Given the description of an element on the screen output the (x, y) to click on. 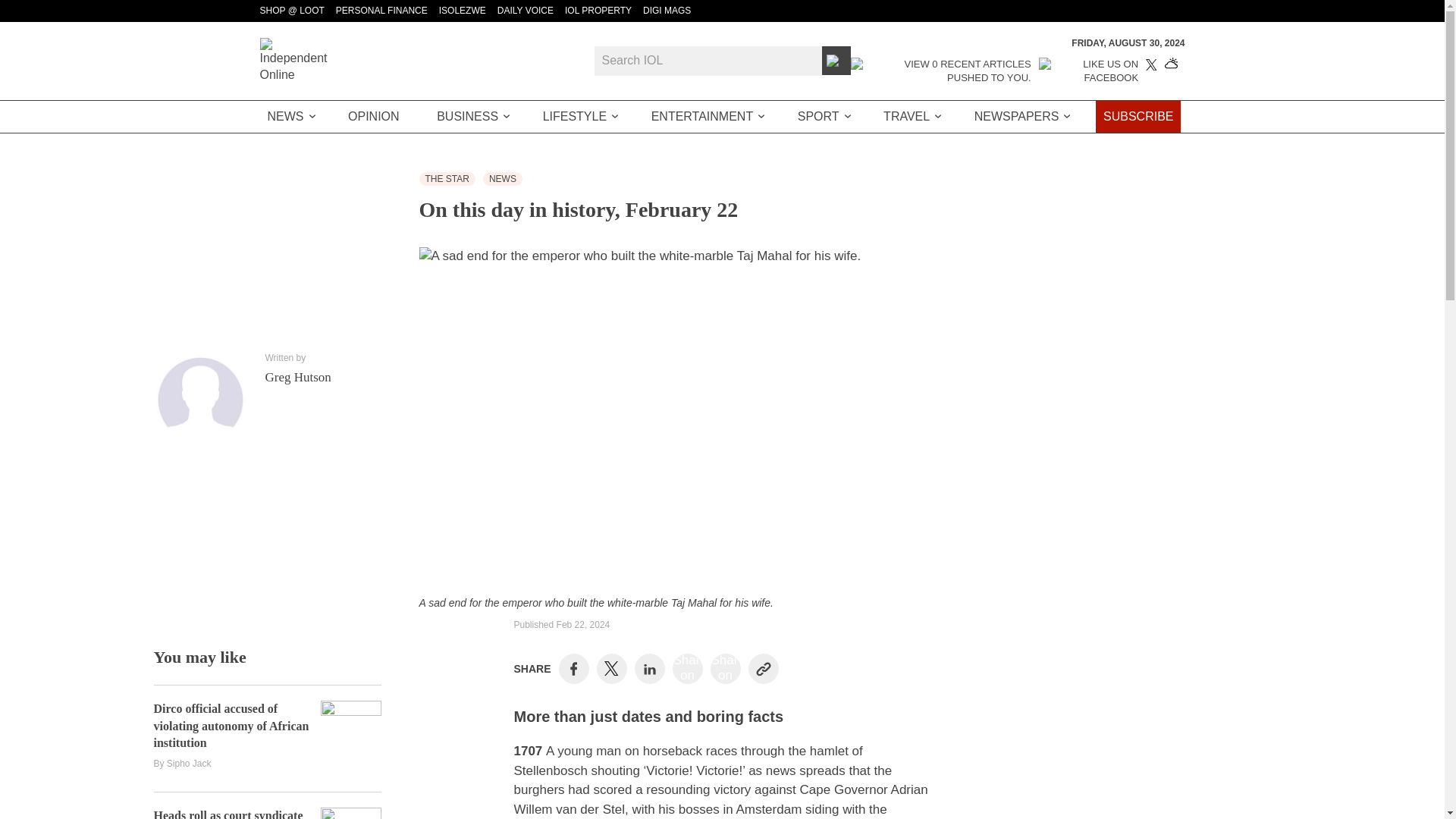
Share on Twitter (611, 668)
Share on LinkedIn (648, 668)
Like us on Facebook (1088, 71)
Copy to Clipboard (763, 668)
Share on Facebook (573, 668)
